Given the description of an element on the screen output the (x, y) to click on. 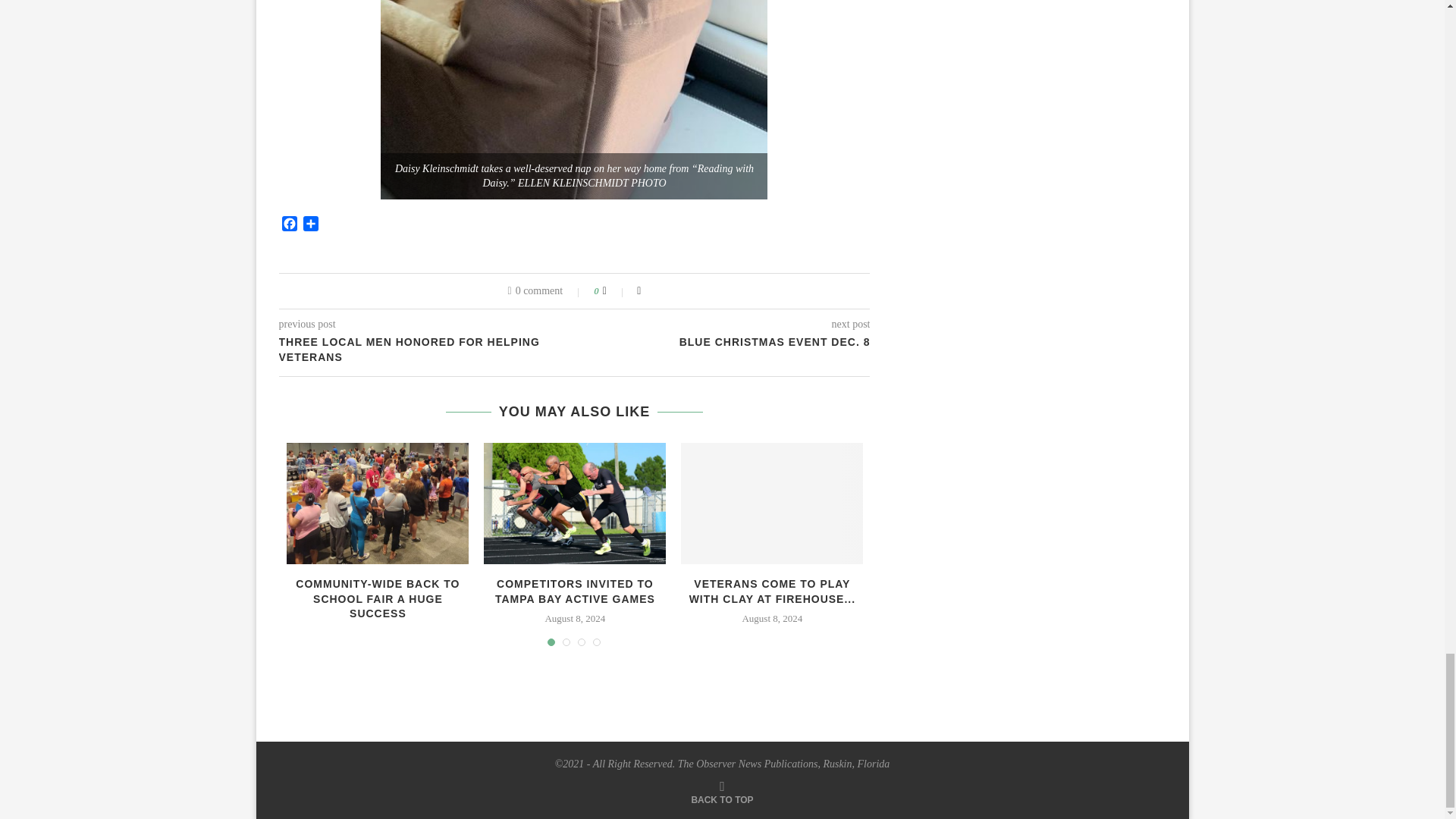
BLUE CHRISTMAS EVENT DEC. 8 (722, 342)
THREE LOCAL MEN HONORED FOR HELPING VETERANS (427, 349)
Community-wide Back to School Fair a huge success (377, 503)
Facebook (289, 225)
Veterans come to play with clay at Firehouse Cultural Center (772, 503)
Facebook (289, 225)
Like (614, 291)
Competitors invited to Tampa Bay Active Games (574, 503)
